Given the description of an element on the screen output the (x, y) to click on. 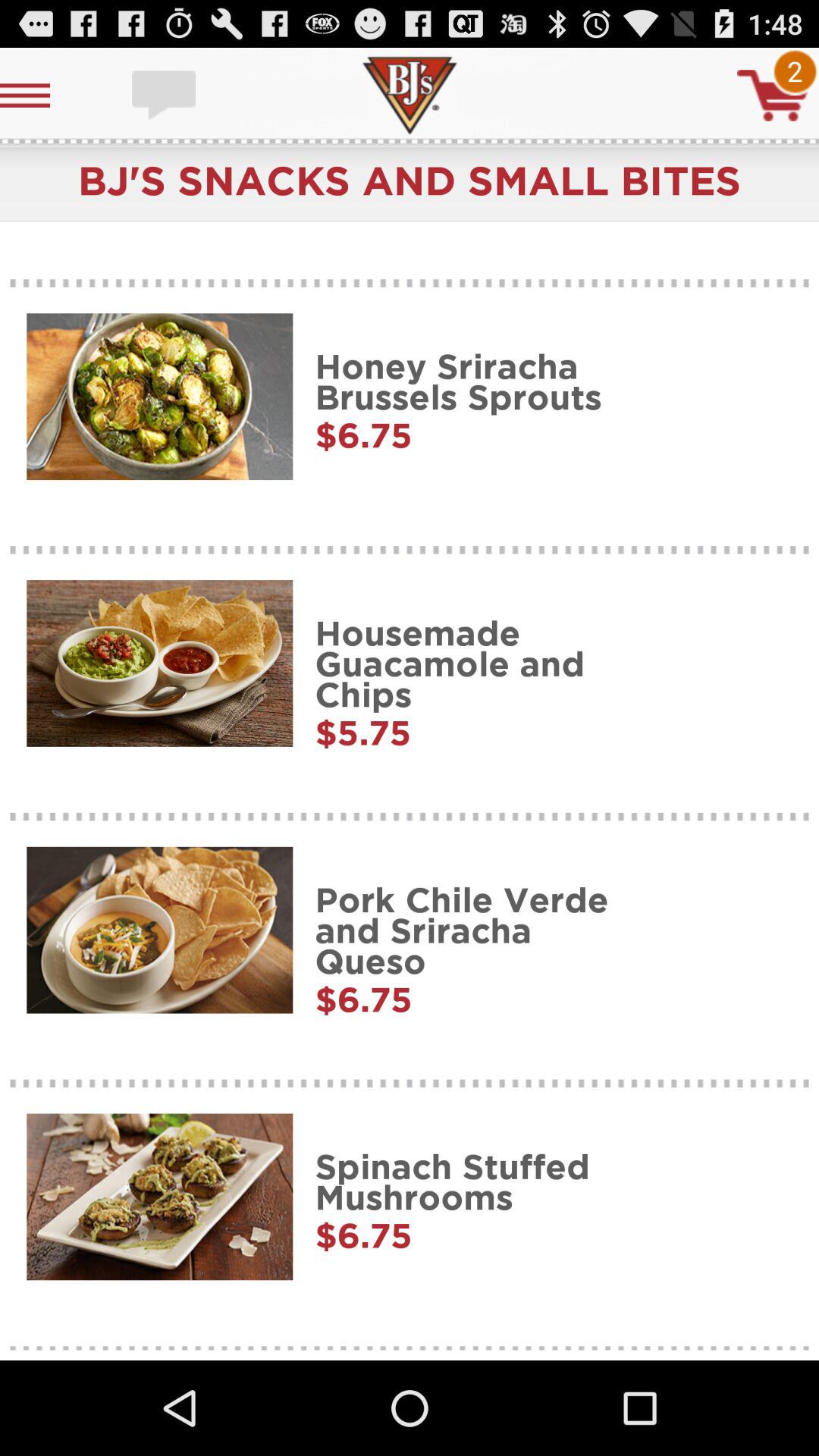
view cart (772, 95)
